Given the description of an element on the screen output the (x, y) to click on. 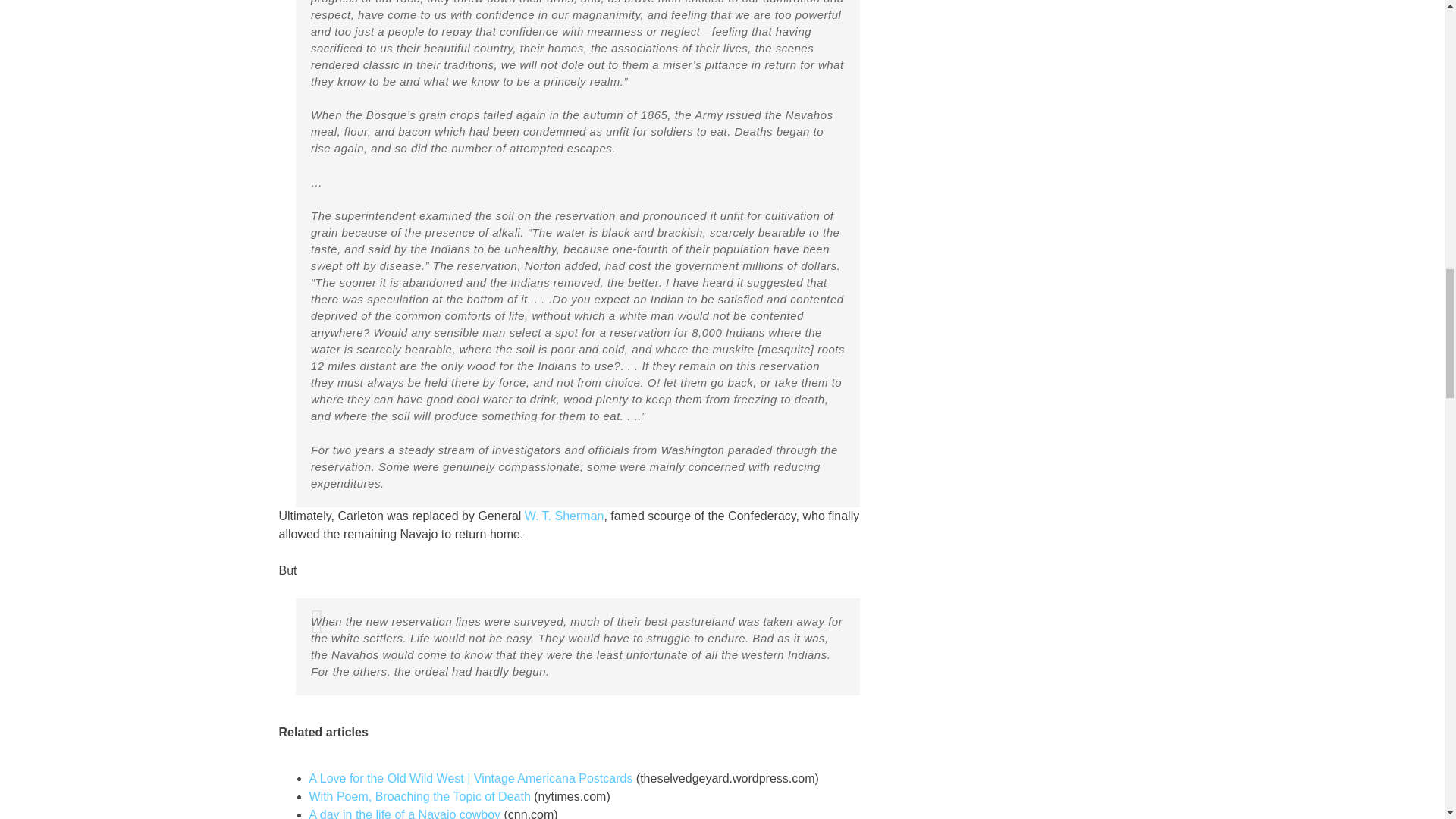
A day in the life of a Navajo cowboy (404, 813)
William Tecumseh Sherman (564, 515)
With Poem, Broaching the Topic of Death (419, 796)
W. T. Sherman (564, 515)
